Given the description of an element on the screen output the (x, y) to click on. 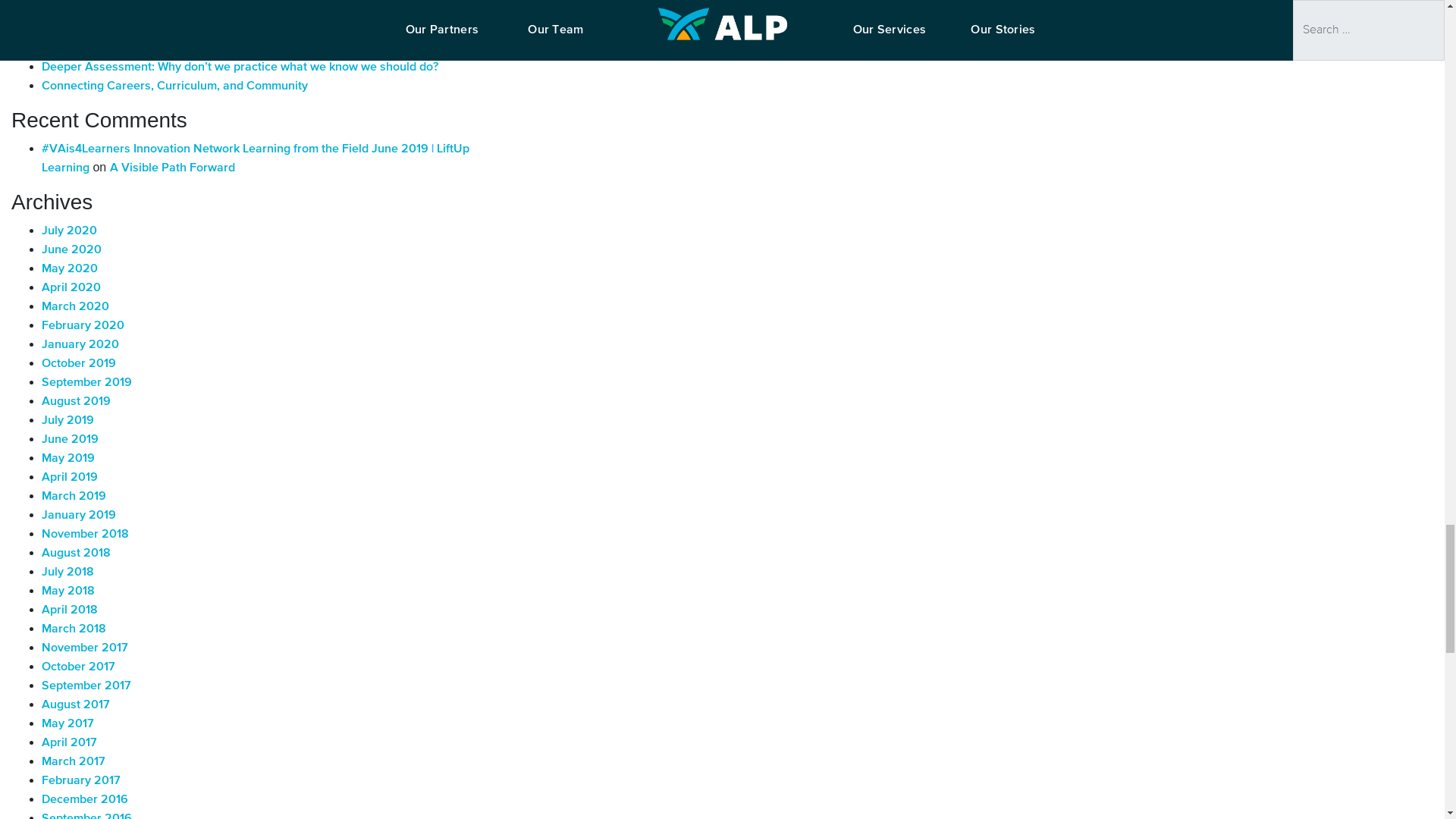
April 2020 (71, 287)
Summer Pathways Culminating Collaboration (165, 10)
Connecting Careers, Curriculum, and Community (174, 86)
A Visible Path Forward (172, 168)
June 2020 (71, 250)
Our Values In Action: My Service In 2020-21 (162, 29)
In Crisis, Opportunity. (100, 48)
May 2020 (69, 268)
July 2020 (69, 231)
